Given the description of an element on the screen output the (x, y) to click on. 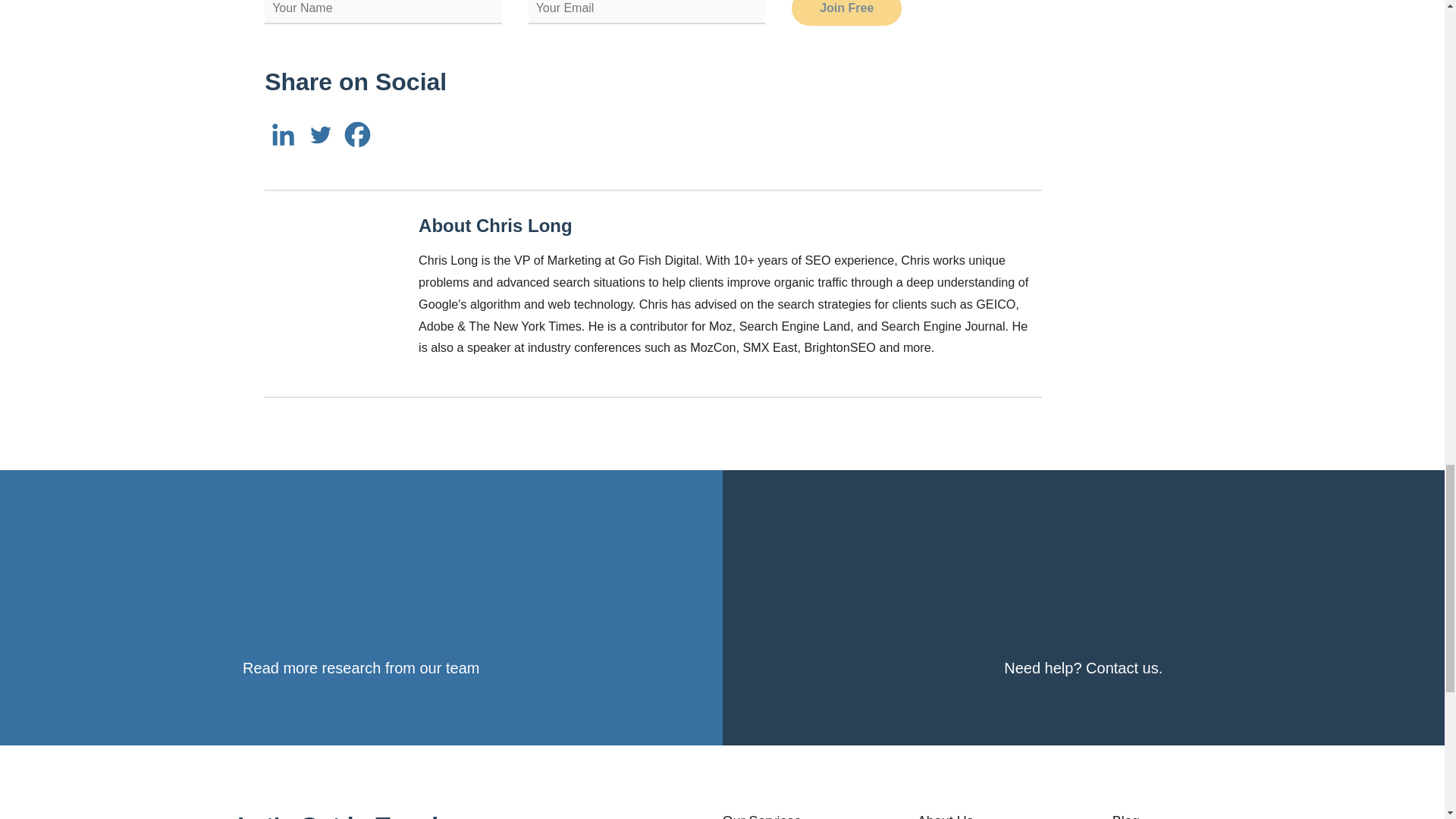
Join Free (846, 12)
Facebook (357, 134)
Linkedin (282, 134)
Twitter (319, 134)
